Given the description of an element on the screen output the (x, y) to click on. 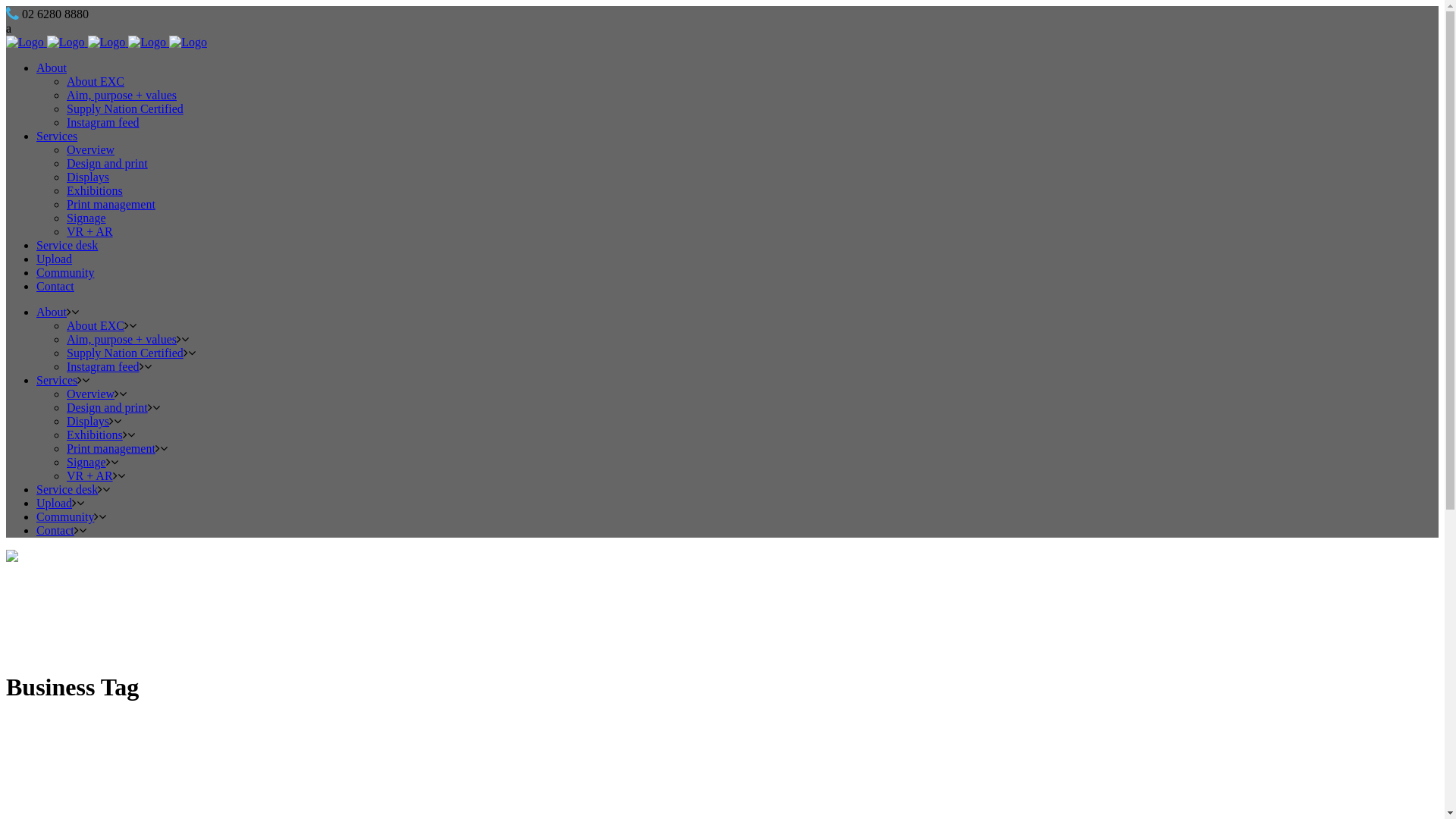
Aim, purpose + values Element type: text (121, 338)
Overview Element type: text (90, 149)
Supply Nation Certified Element type: text (124, 108)
Displays Element type: text (87, 176)
Contact Element type: text (55, 530)
VR + AR Element type: text (89, 475)
Design and print Element type: text (106, 407)
Exhibitions Element type: text (94, 434)
Supply Nation Certified Element type: text (124, 352)
About EXC Element type: text (95, 325)
About EXC Element type: text (95, 81)
Aim, purpose + values Element type: text (121, 94)
Upload Element type: text (54, 502)
Contact Element type: text (55, 285)
Services Element type: text (56, 379)
Signage Element type: text (86, 461)
Design and print Element type: text (106, 162)
Community Element type: text (65, 516)
Instagram feed Element type: text (102, 366)
Overview Element type: text (90, 393)
Service desk Element type: text (66, 244)
Community Element type: text (65, 272)
About Element type: text (51, 311)
About Element type: text (51, 67)
Signage Element type: text (86, 217)
Print management Element type: text (110, 448)
Exhibitions Element type: text (94, 190)
Service desk Element type: text (66, 489)
Instagram feed Element type: text (102, 122)
VR + AR Element type: text (89, 231)
Services Element type: text (56, 135)
Upload Element type: text (54, 258)
Displays Element type: text (87, 420)
Print management Element type: text (110, 203)
